Given the description of an element on the screen output the (x, y) to click on. 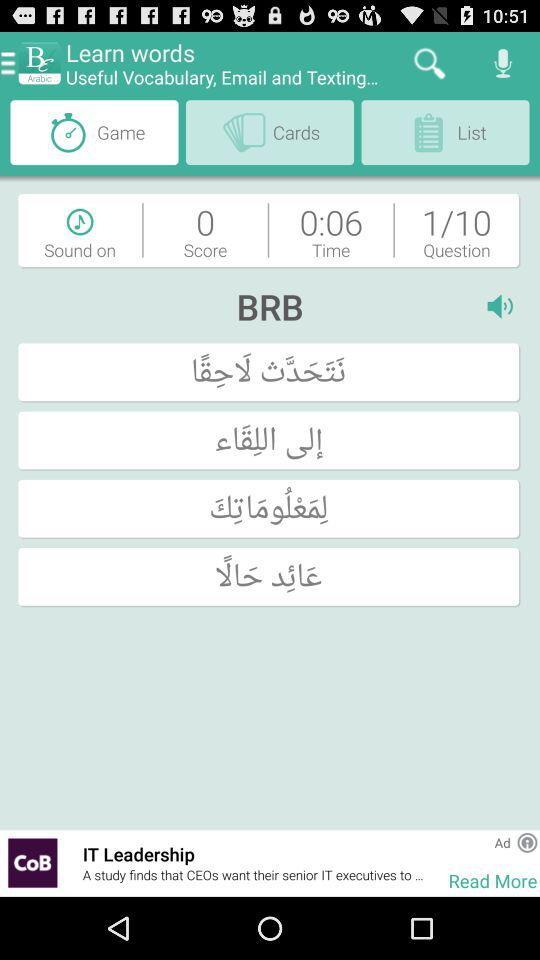
turn off a study finds item (255, 875)
